Given the description of an element on the screen output the (x, y) to click on. 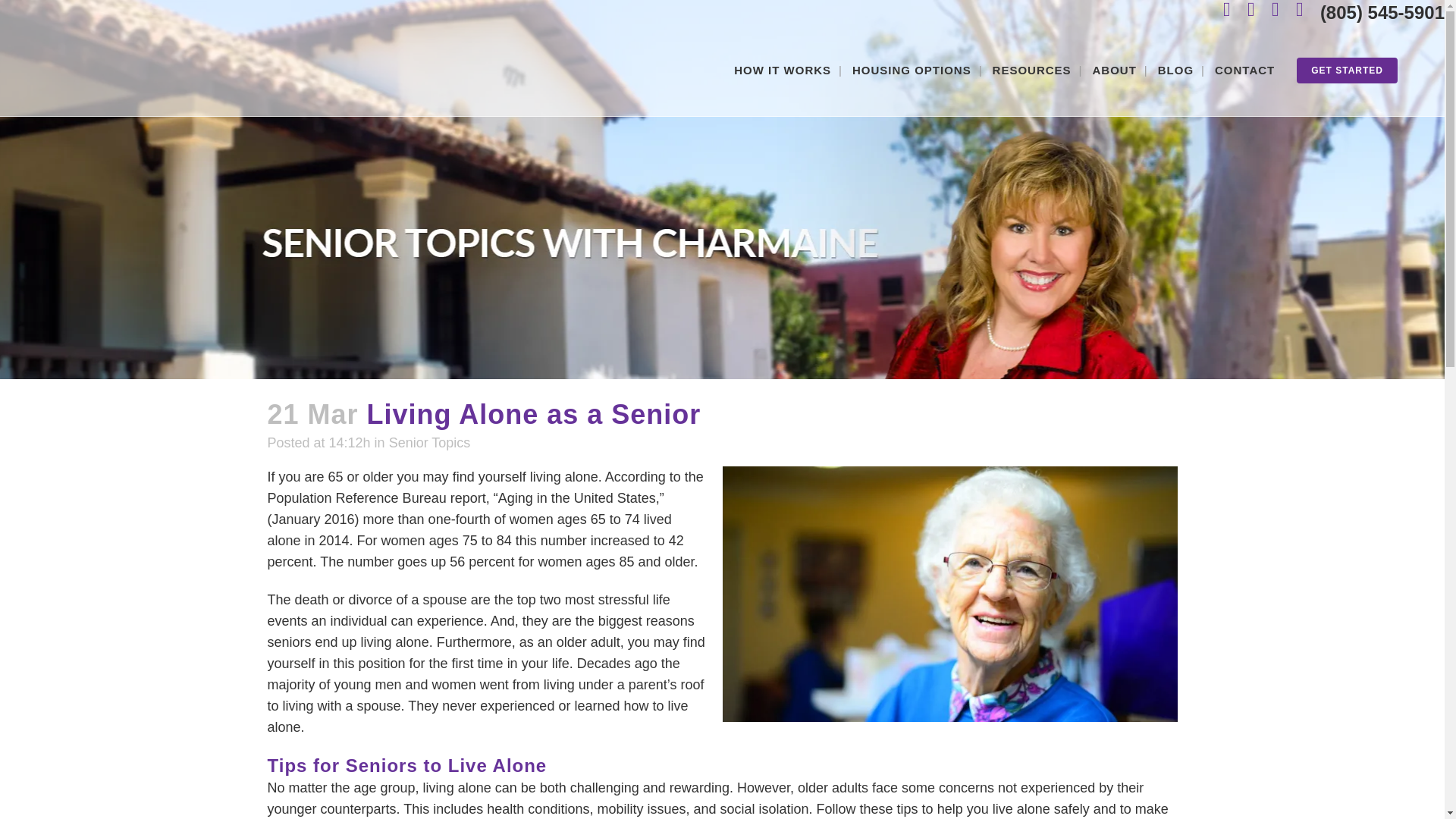
Senior Topics (429, 442)
HOUSING OPTIONS (911, 70)
GET STARTED (1347, 70)
HOW IT WORKS (782, 70)
RESOURCES (1032, 70)
